Given the description of an element on the screen output the (x, y) to click on. 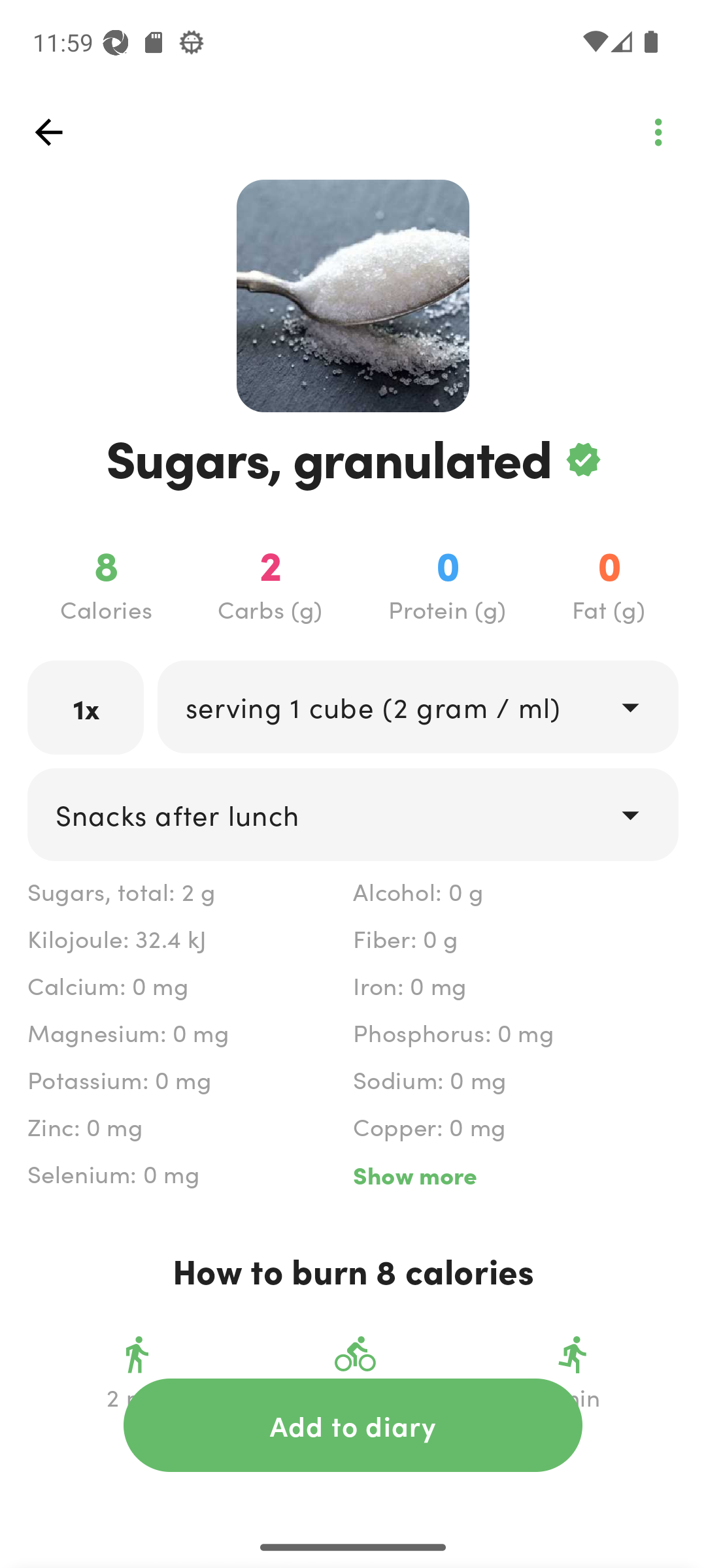
top_left_action (48, 132)
top_left_action (658, 132)
1x labeled_edit_text (85, 707)
drop_down serving 1 cube (2 gram / ml) (417, 706)
drop_down Snacks after lunch (352, 814)
Show more (515, 1174)
action_button Add to diary (352, 1425)
